Given the description of an element on the screen output the (x, y) to click on. 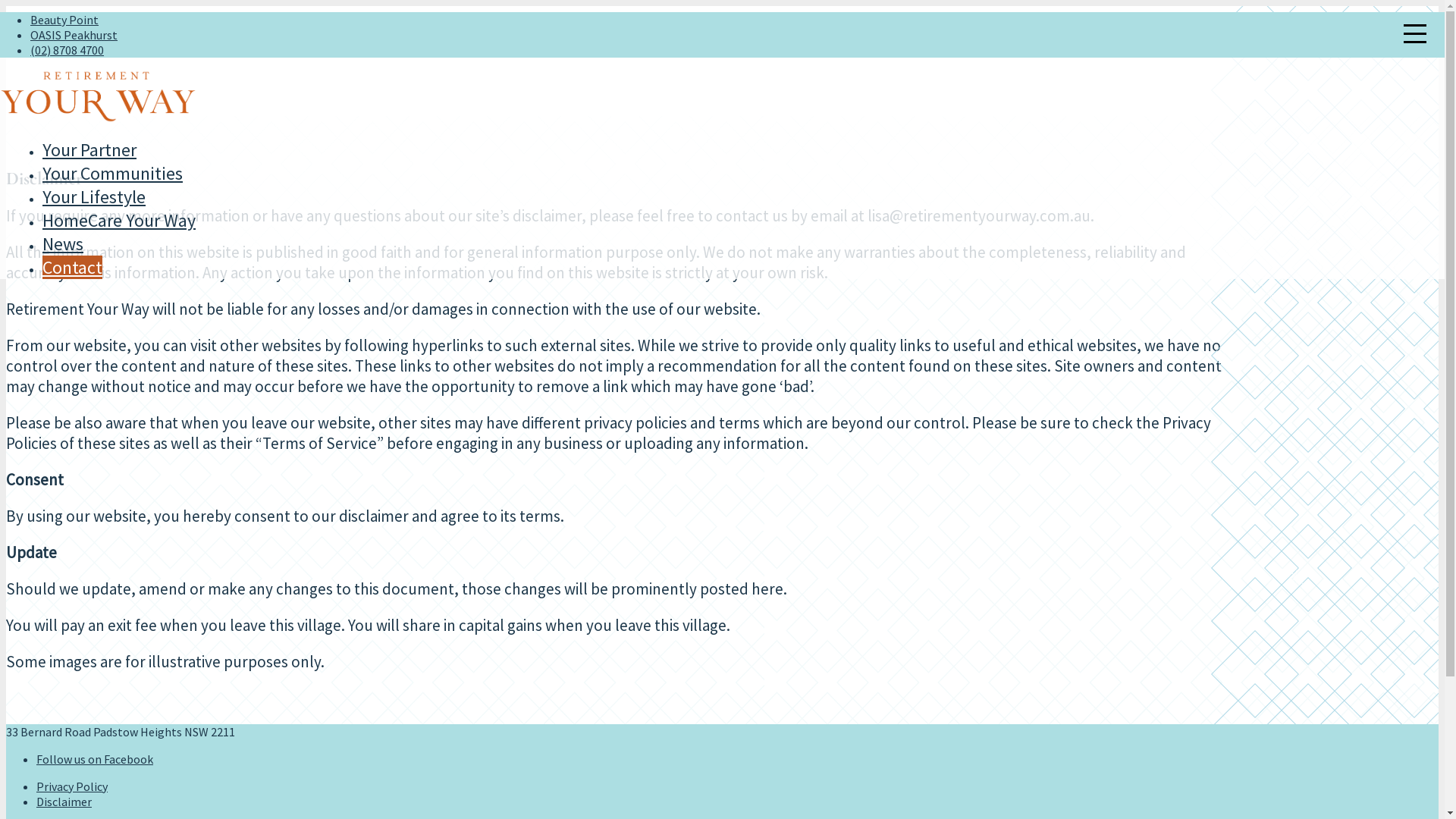
Follow us on Facebook Element type: text (94, 758)
Your Communities Element type: text (112, 173)
Contact Element type: text (72, 267)
HomeCare Your Way Element type: text (118, 220)
Your Partner Element type: text (89, 149)
Disclaimer Element type: text (63, 801)
OASIS Peakhurst Element type: text (73, 34)
Beauty Point Element type: text (64, 19)
(02) 8708 4700 Element type: text (66, 49)
Your Lifestyle Element type: text (93, 196)
Privacy Policy Element type: text (71, 785)
News Element type: text (62, 243)
